Given the description of an element on the screen output the (x, y) to click on. 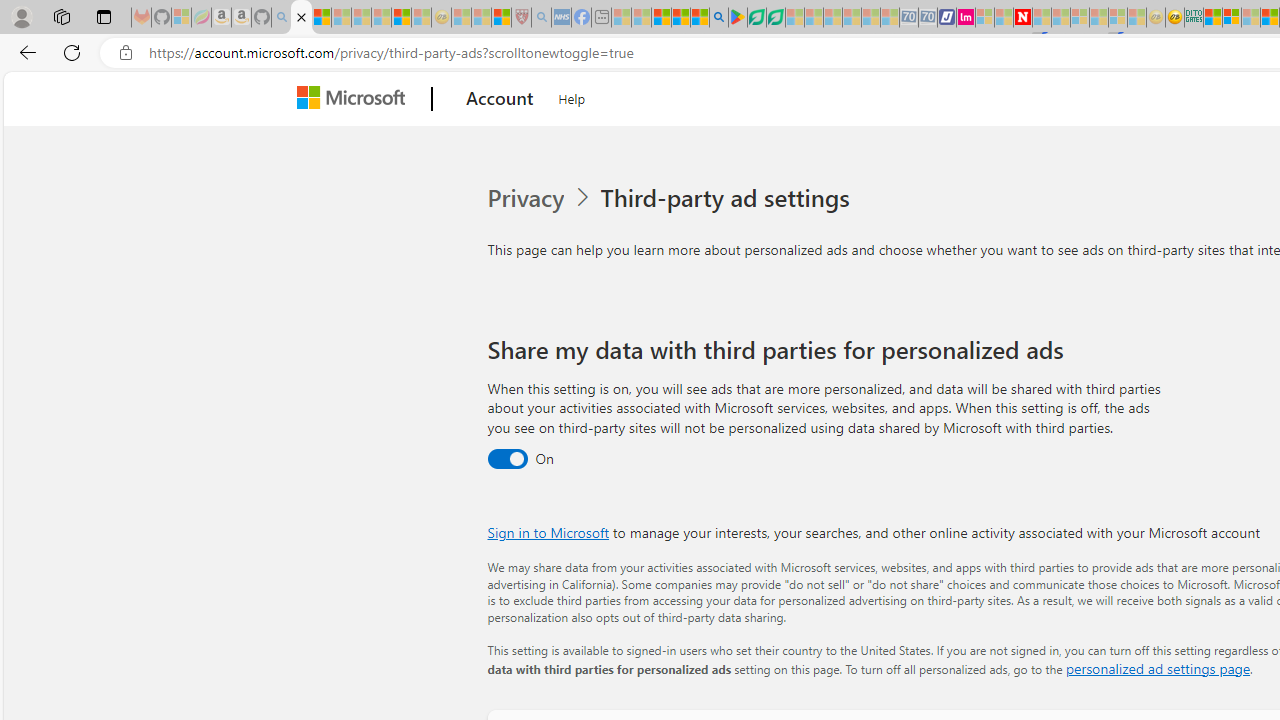
Robert H. Shmerling, MD - Harvard Health - Sleeping (521, 17)
Recipes - MSN - Sleeping (461, 17)
google - Search (719, 17)
personalized ad settings page (1157, 668)
14 Common Myths Debunked By Scientific Facts - Sleeping (1061, 17)
Help (572, 96)
